Given the description of an element on the screen output the (x, y) to click on. 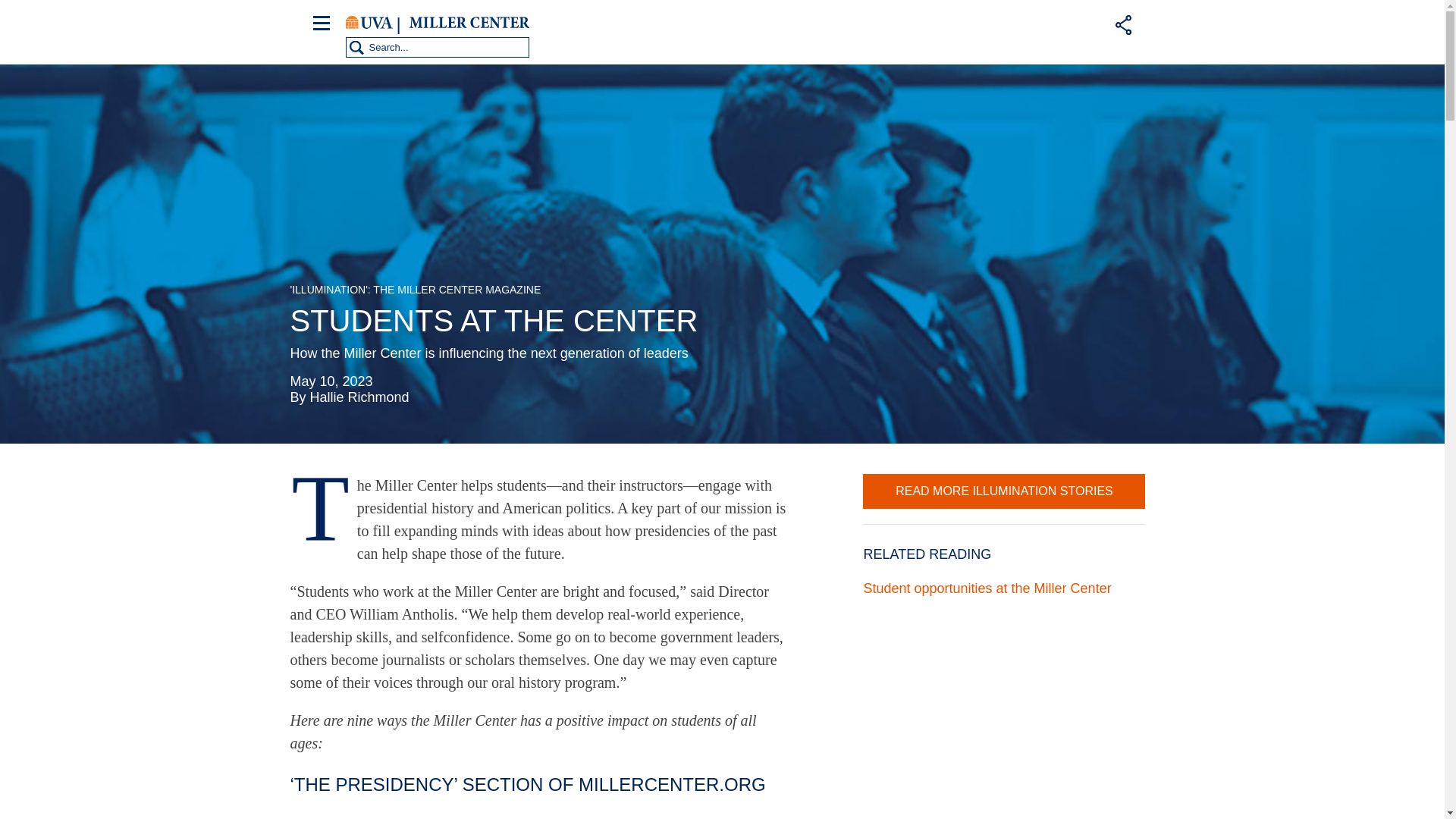
University of Virginia (369, 22)
Home (469, 22)
